Given the description of an element on the screen output the (x, y) to click on. 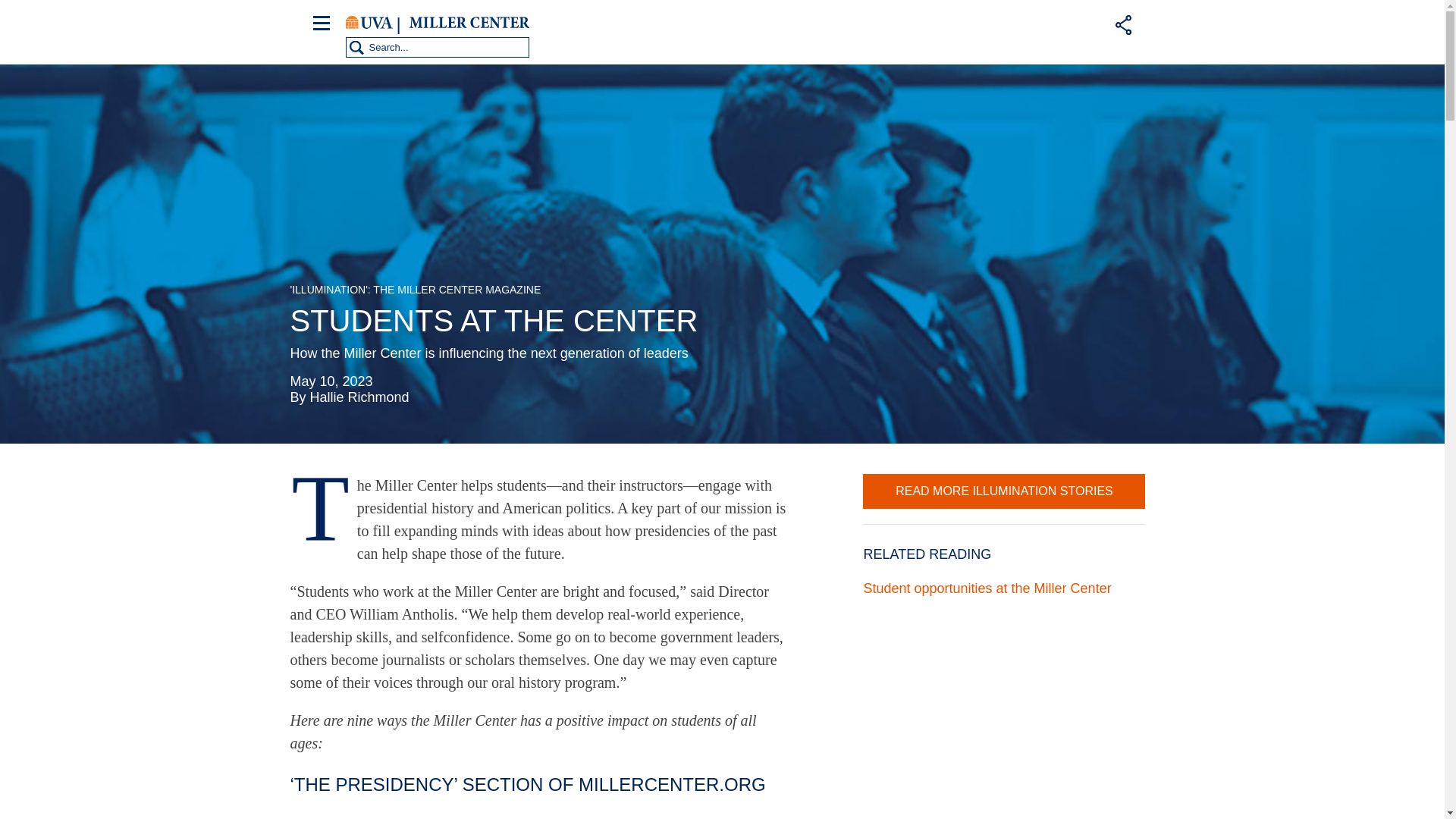
University of Virginia (369, 22)
Home (469, 22)
